Given the description of an element on the screen output the (x, y) to click on. 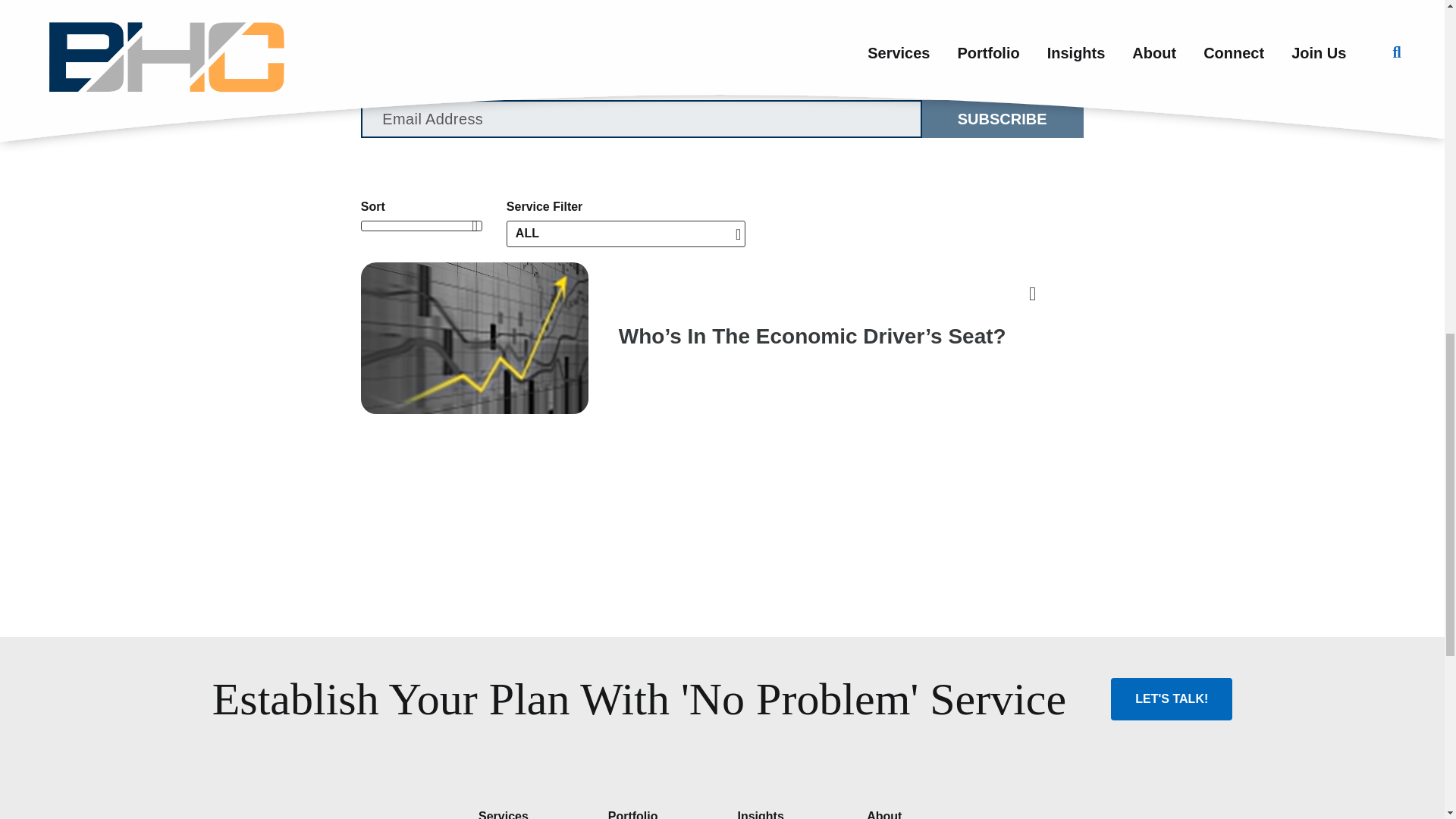
ALL (625, 233)
SUBSCRIBE (1001, 118)
